Given the description of an element on the screen output the (x, y) to click on. 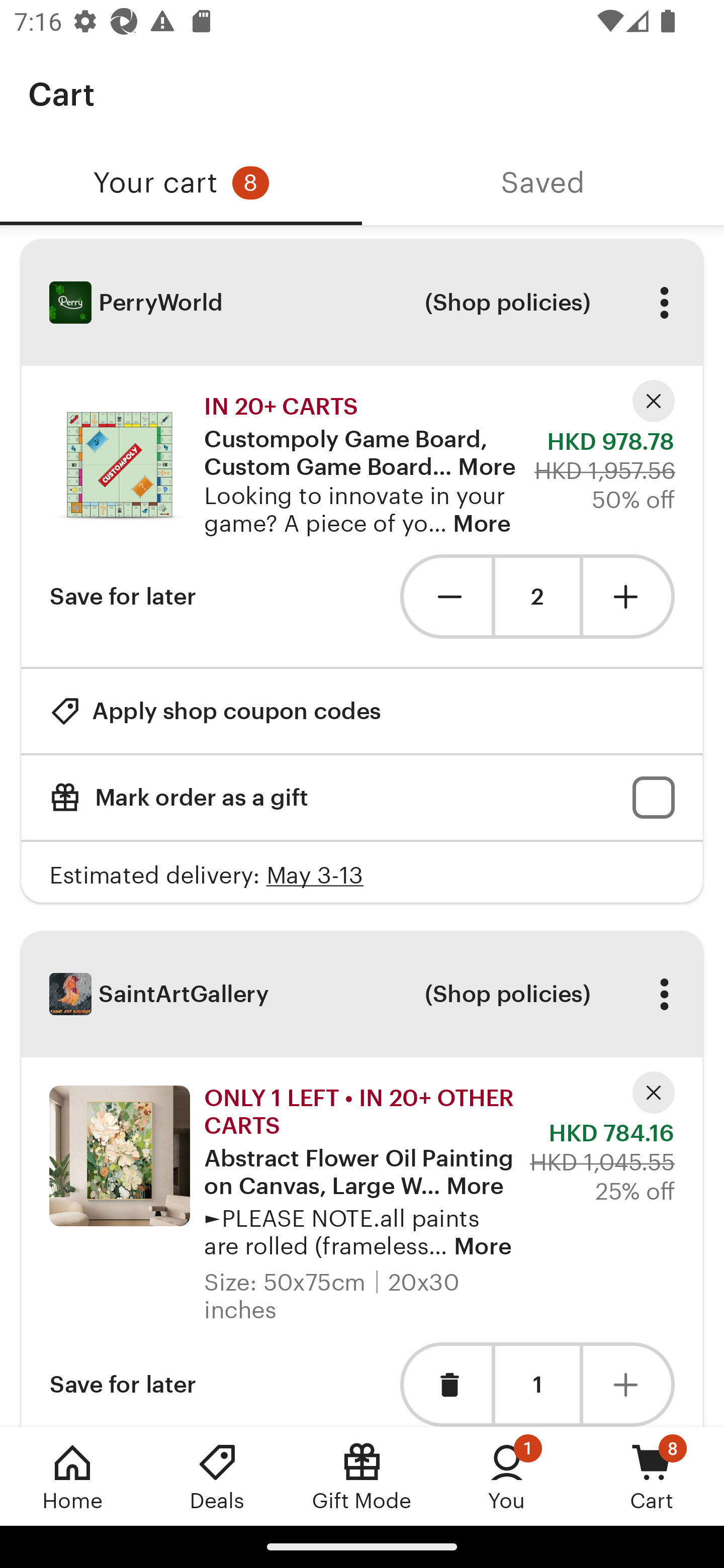
Saved, tab 2 of 2 Saved (543, 183)
PerryWorld (Shop policies) More options (361, 302)
(Shop policies) (507, 302)
More options (663, 302)
Save for later (122, 596)
Remove one unit from cart (445, 596)
Add one unit to cart (628, 596)
2 (537, 597)
Apply shop coupon codes (215, 710)
Mark order as a gift (361, 797)
SaintArtGallery (Shop policies) More options (361, 993)
(Shop policies) (507, 993)
More options (663, 993)
Save for later (122, 1384)
Remove item from cart (445, 1384)
Add one unit to cart (628, 1384)
1 (537, 1384)
Home (72, 1475)
Deals (216, 1475)
Gift Mode (361, 1475)
You, 1 new notification You (506, 1475)
